Given the description of an element on the screen output the (x, y) to click on. 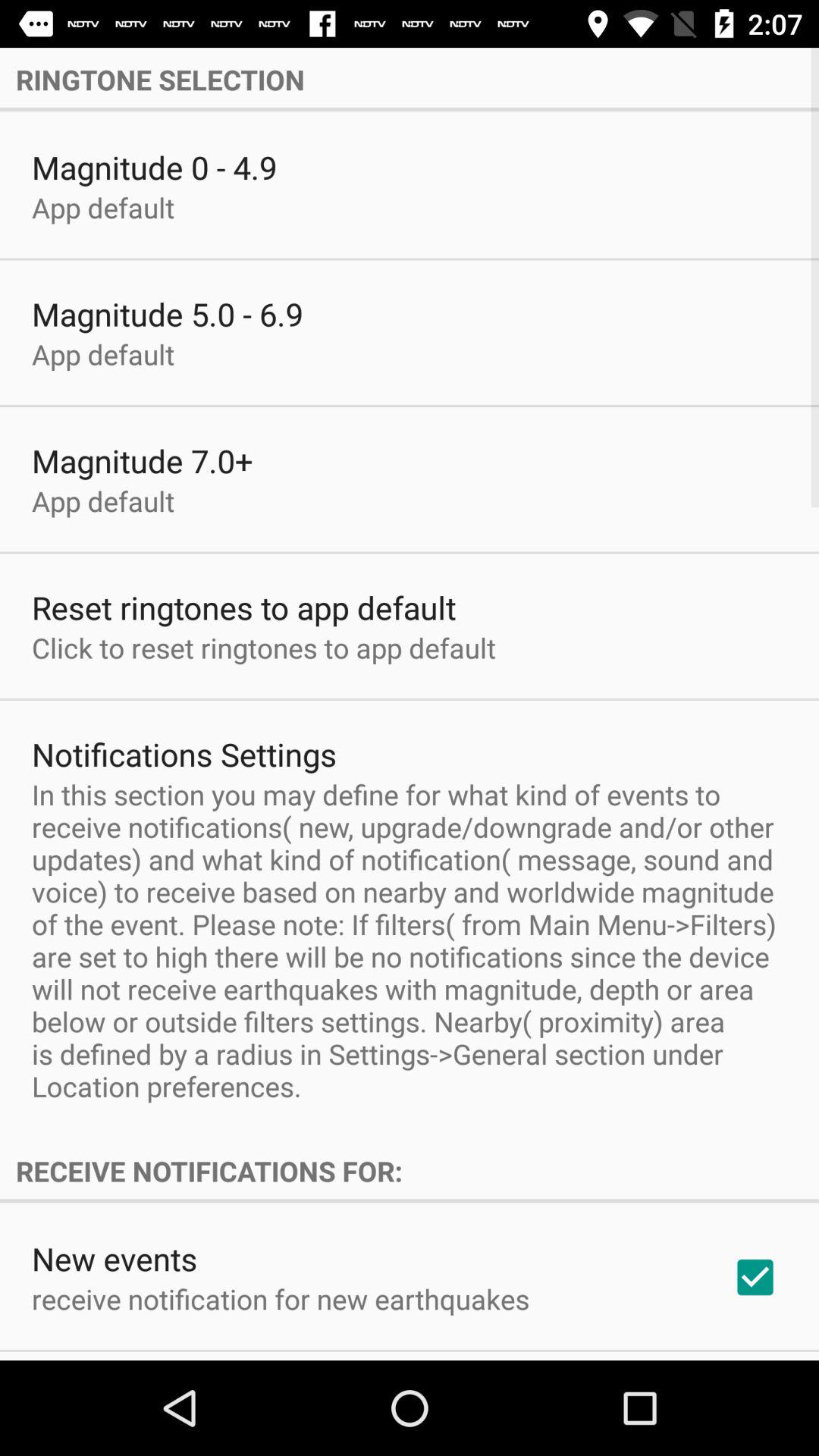
press app below receive notifications for: icon (755, 1277)
